Given the description of an element on the screen output the (x, y) to click on. 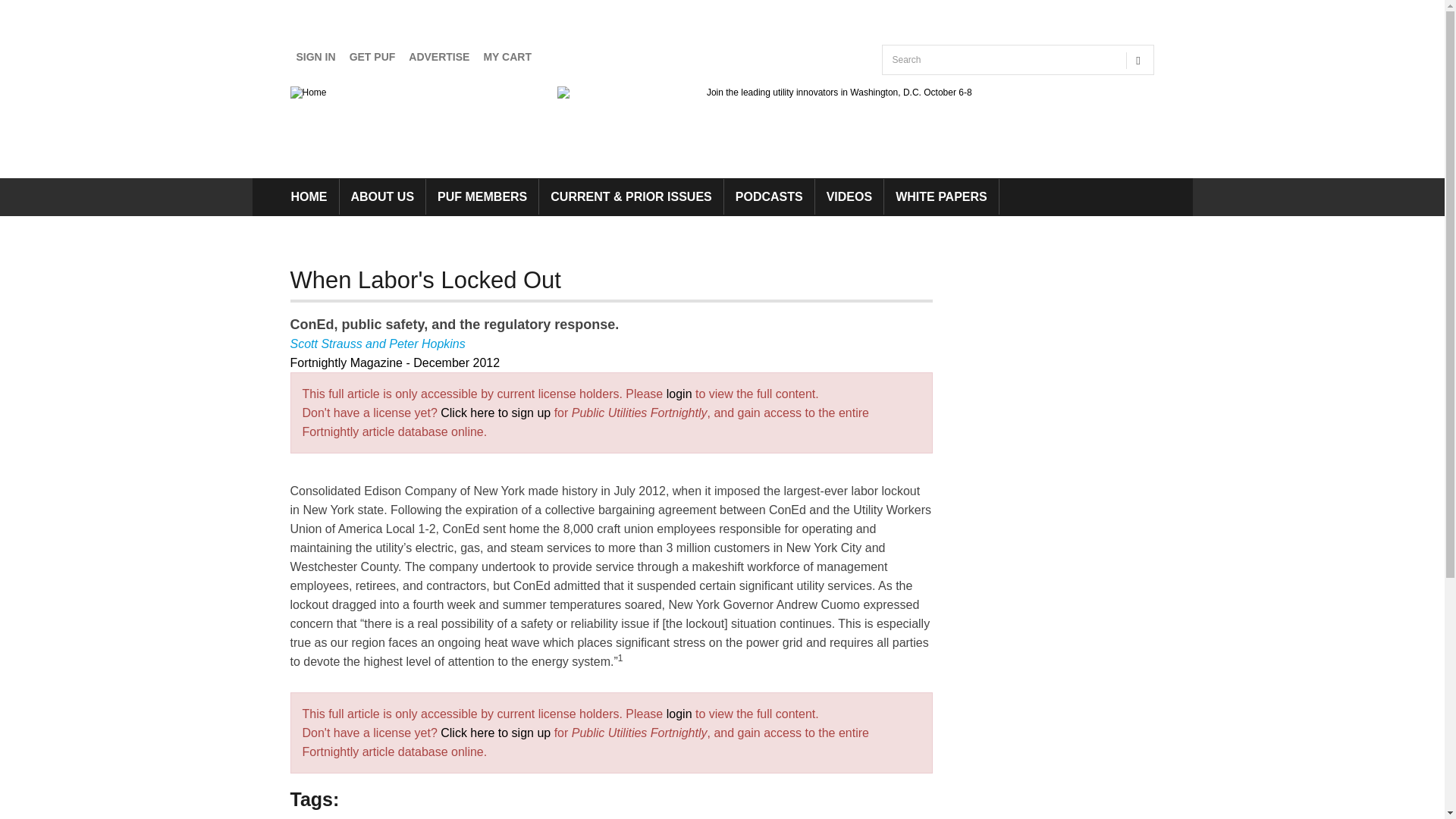
SIGN IN (314, 57)
Search (898, 90)
Click here to sign up (495, 412)
PUF MEMBERS (482, 196)
Home (307, 91)
login (679, 393)
MY CART (507, 57)
WHITE PAPERS (940, 196)
Click here to sign up (495, 732)
